Given the description of an element on the screen output the (x, y) to click on. 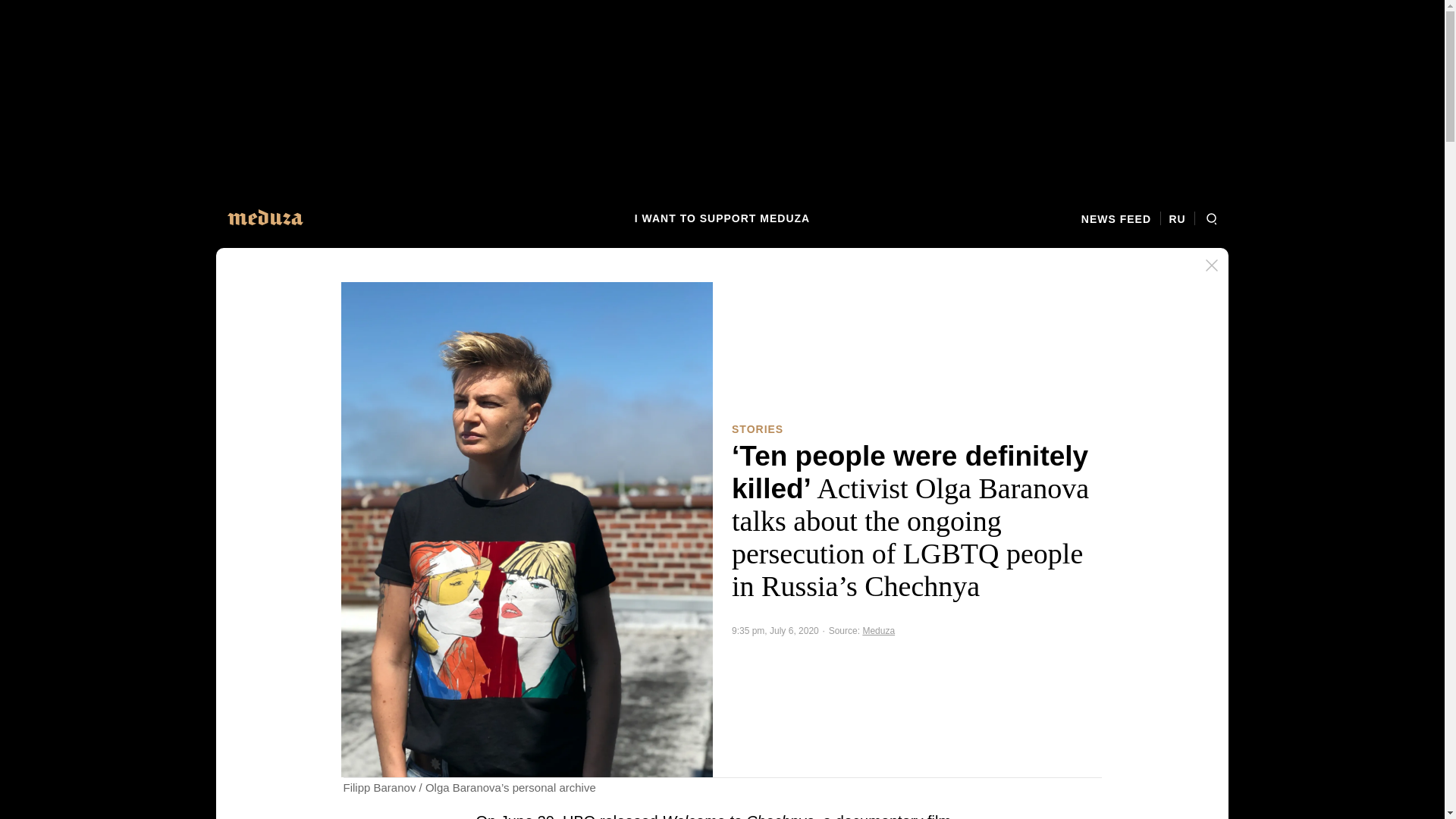
RU (1176, 218)
Meduza (878, 630)
NEWS FEED (1120, 218)
I WANT TO SUPPORT MEDUZA (722, 218)
